Given the description of an element on the screen output the (x, y) to click on. 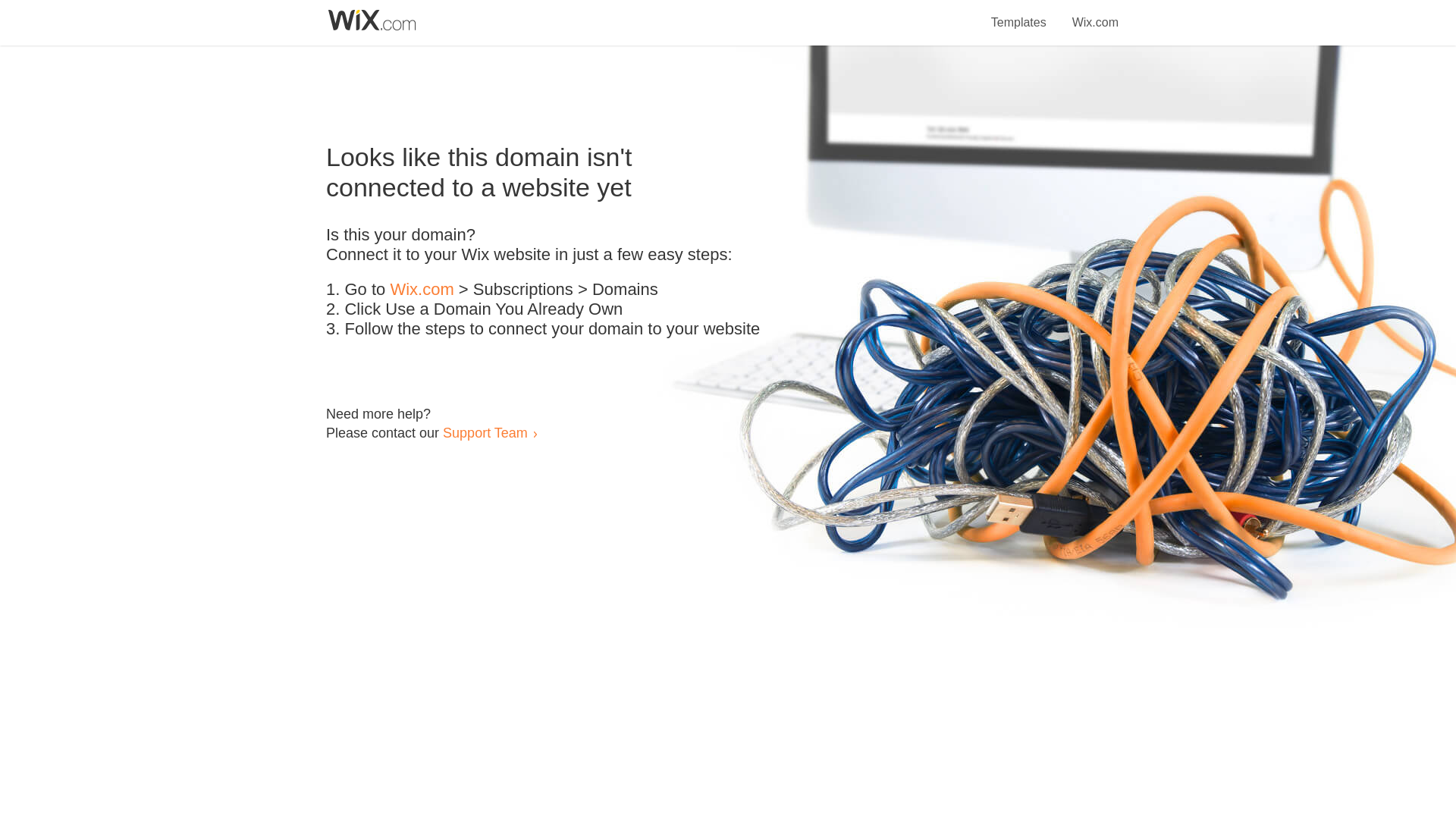
Wix.com (1095, 14)
Templates (1018, 14)
Support Team (484, 432)
Wix.com (421, 289)
